Given the description of an element on the screen output the (x, y) to click on. 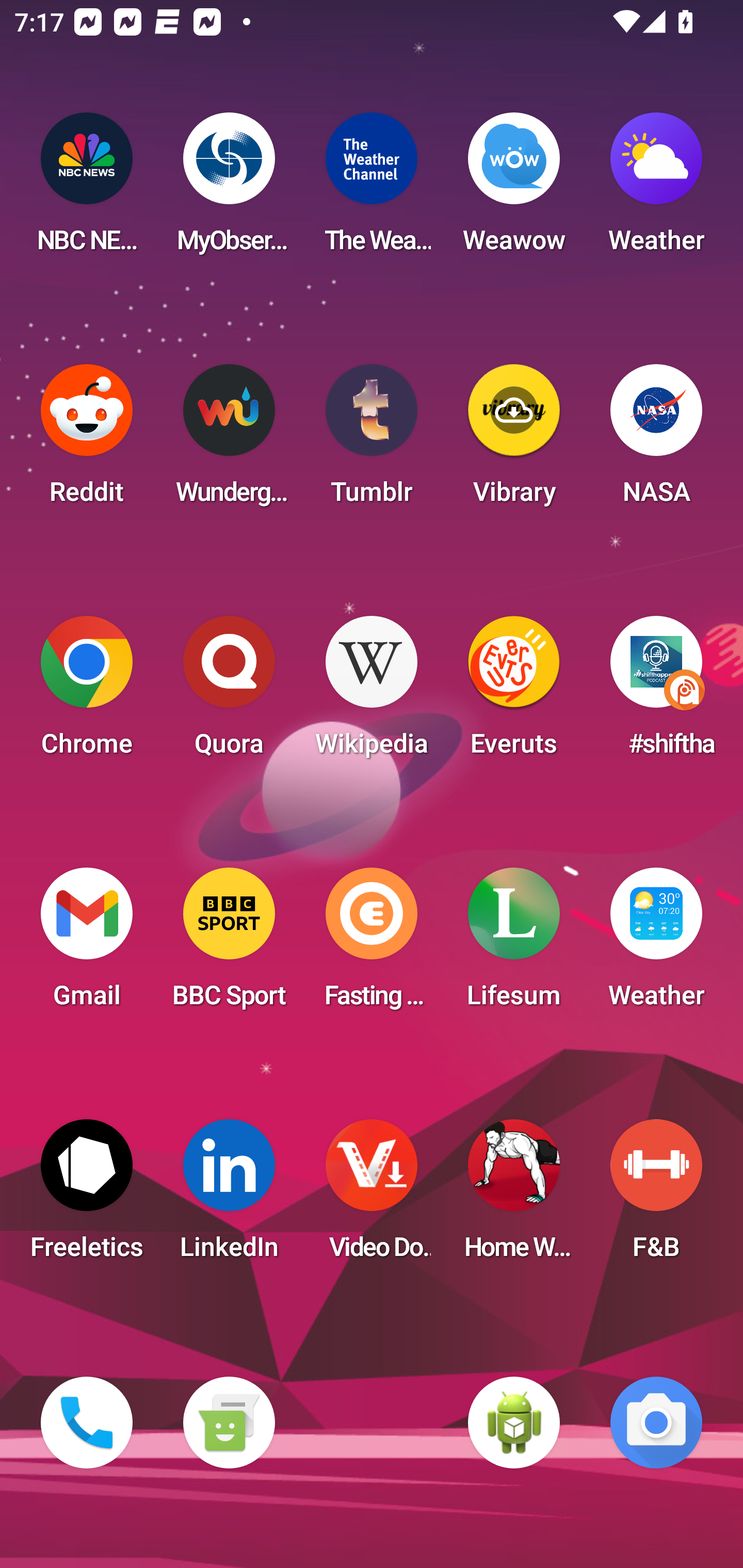
NBC NEWS (86, 188)
MyObservatory (228, 188)
The Weather Channel (371, 188)
Weawow (513, 188)
Weather (656, 188)
Reddit (86, 440)
Wunderground (228, 440)
Tumblr (371, 440)
Vibrary (513, 440)
NASA (656, 440)
Chrome (86, 692)
Quora (228, 692)
Wikipedia (371, 692)
Everuts (513, 692)
#shifthappens in the Digital Workplace Podcast (656, 692)
Gmail (86, 943)
BBC Sport (228, 943)
Fasting Coach (371, 943)
Lifesum (513, 943)
Weather (656, 943)
Freeletics (86, 1195)
LinkedIn (228, 1195)
Video Downloader & Ace Player (371, 1195)
Home Workout (513, 1195)
F&B (656, 1195)
Phone (86, 1422)
Messaging (228, 1422)
WebView Browser Tester (513, 1422)
Camera (656, 1422)
